Given the description of an element on the screen output the (x, y) to click on. 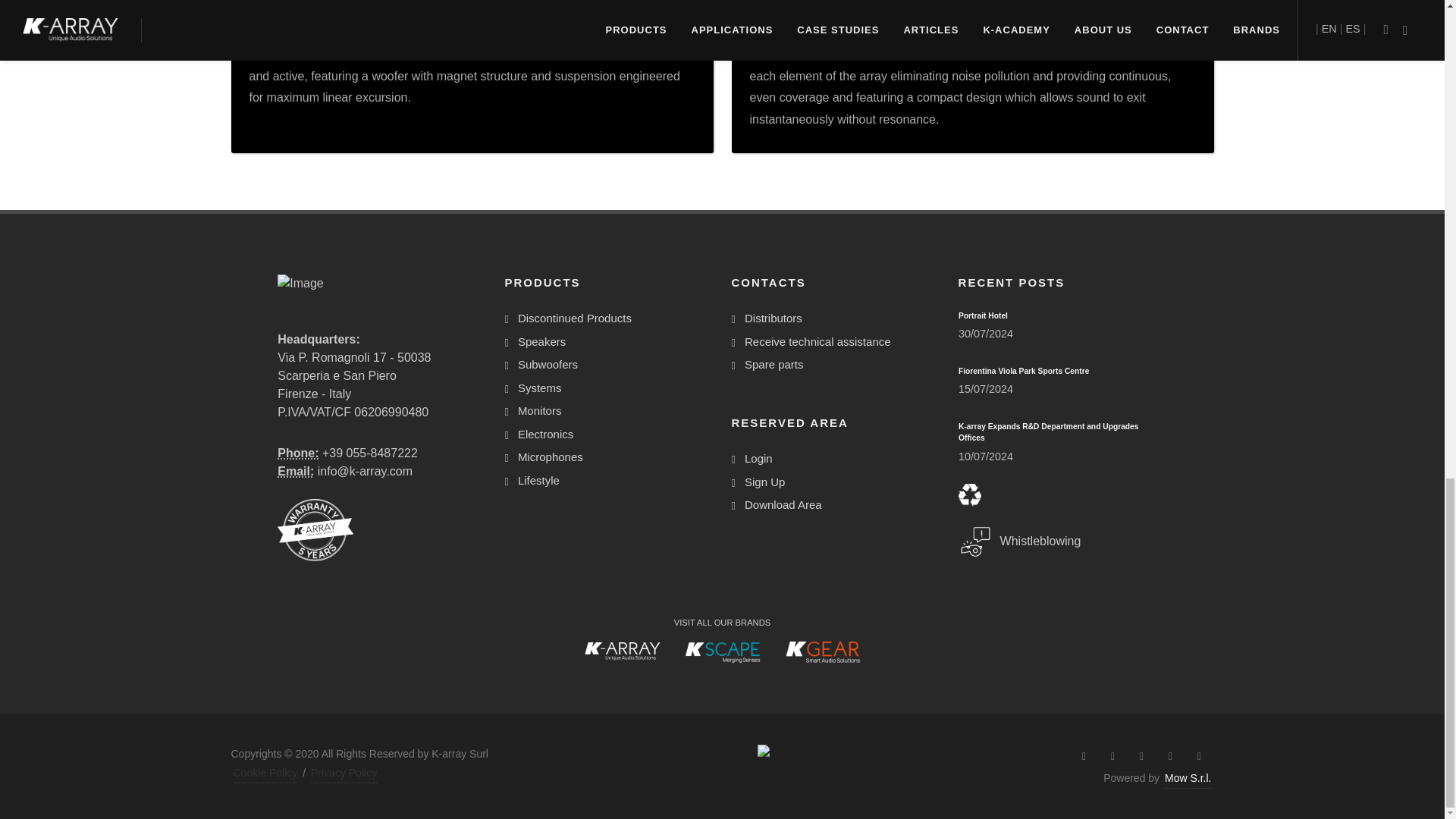
Privacy Policy  (344, 772)
Phone Number (298, 452)
Cookie Policy  (265, 772)
Email Address (296, 471)
